Given the description of an element on the screen output the (x, y) to click on. 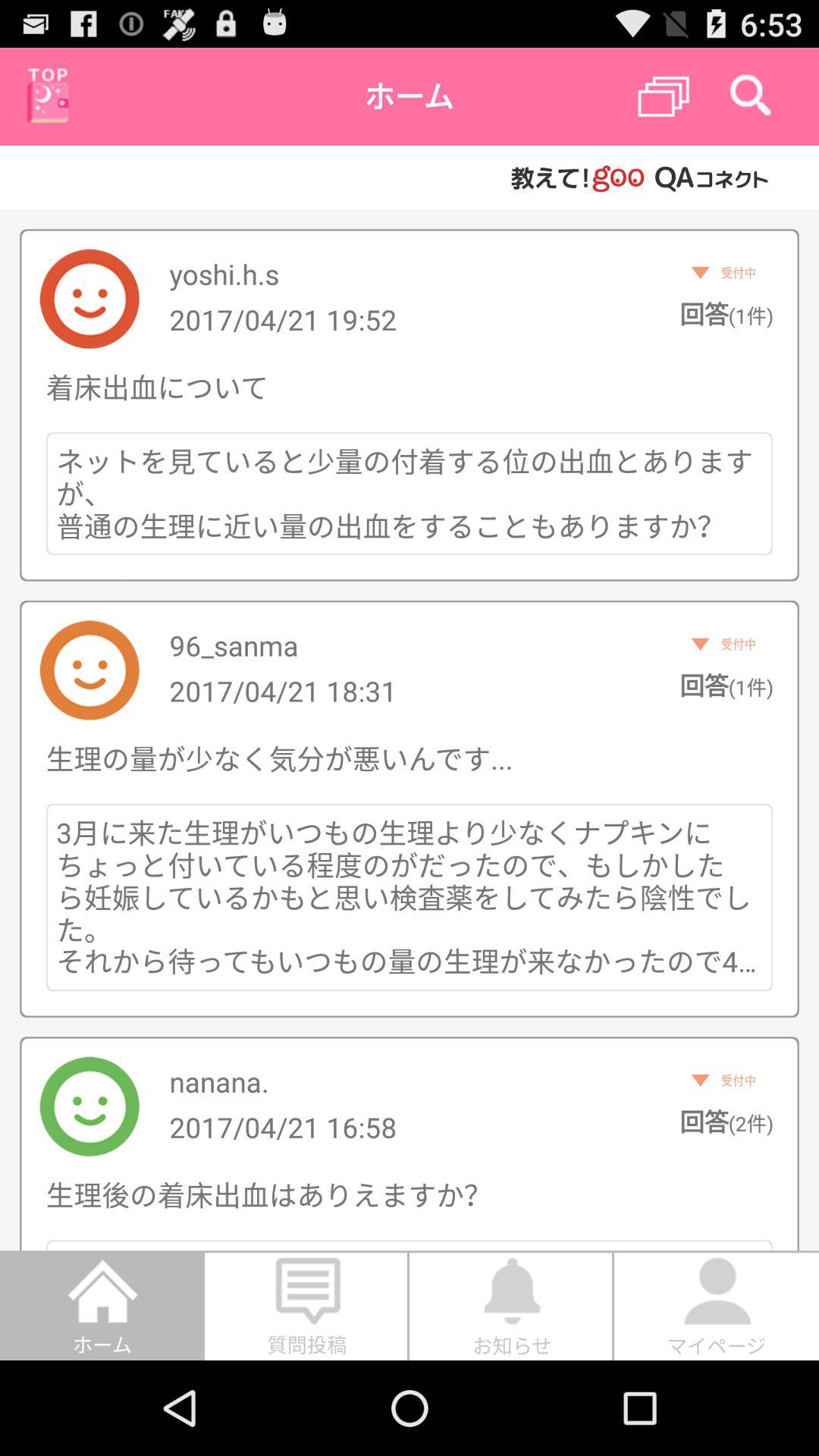
press the icon to the right of the 2017 04 21 (726, 684)
